Given the description of an element on the screen output the (x, y) to click on. 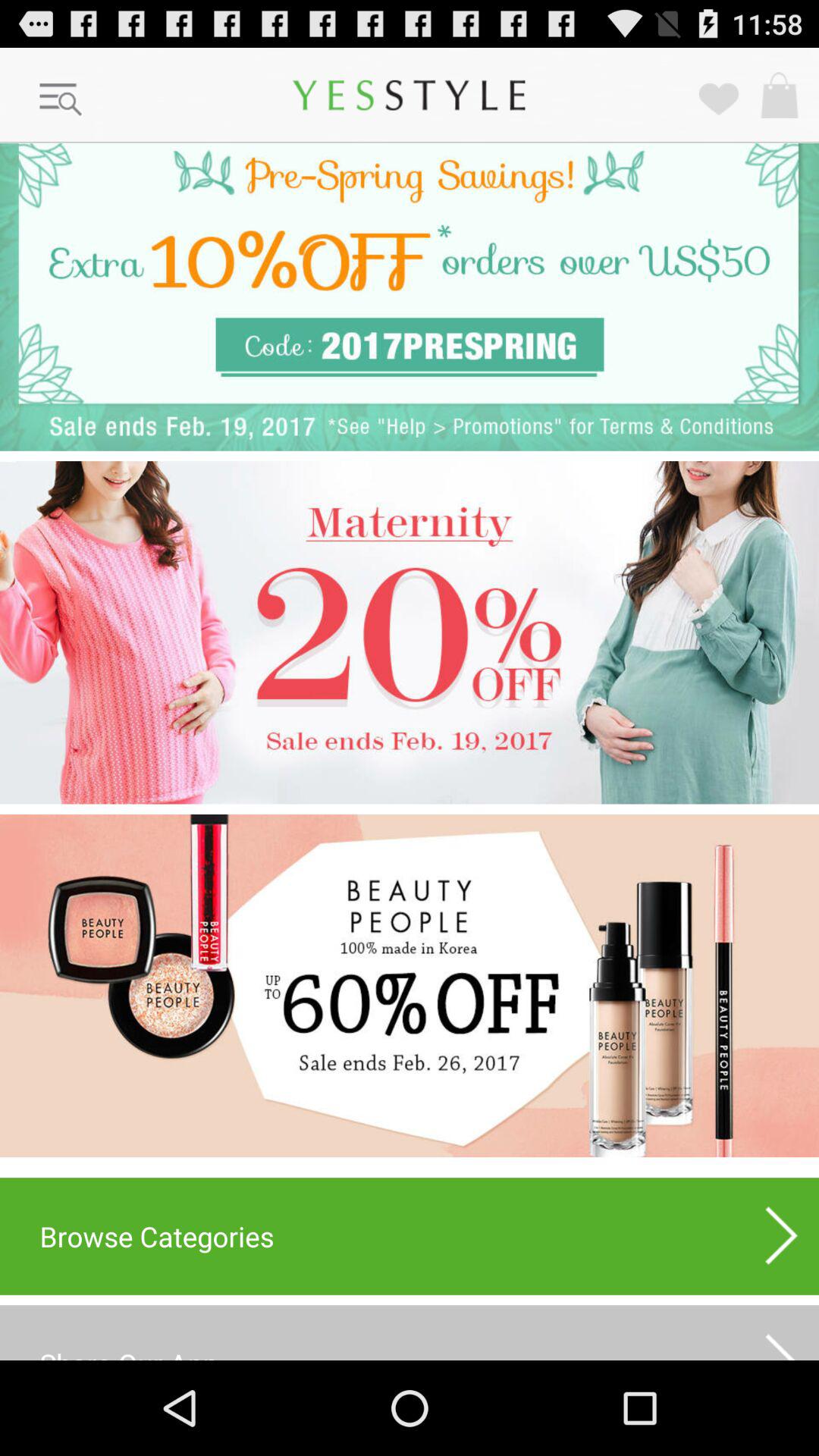
swipe until the browse categories item (409, 1236)
